Given the description of an element on the screen output the (x, y) to click on. 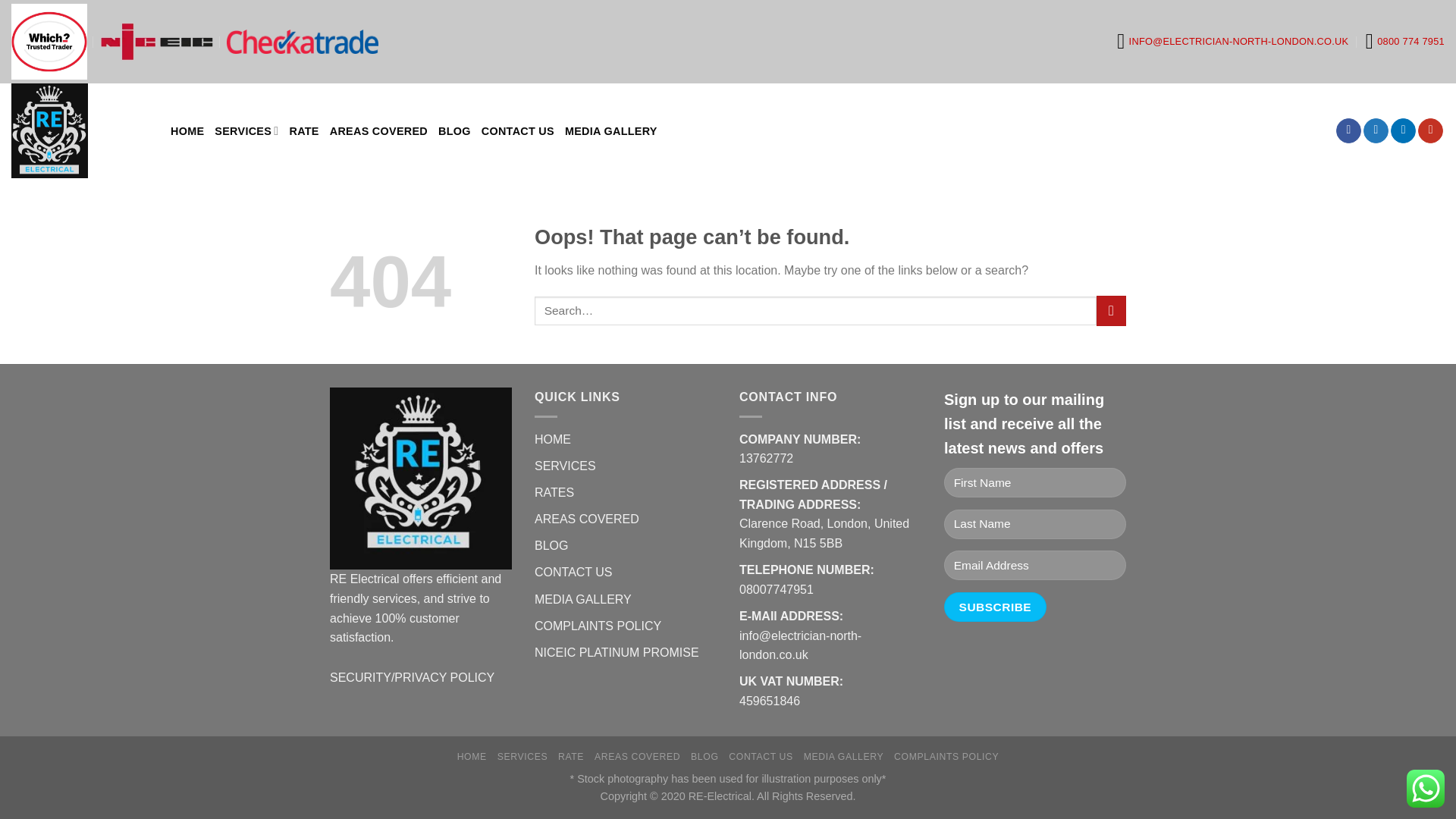
Follow on Facebook (1348, 130)
0800 774 7951 (1404, 41)
CONTACT US (517, 130)
BLOG (454, 130)
NICEIC PLATINUM PROMISE (616, 652)
RATES (553, 492)
HOME (471, 756)
HOME (552, 439)
RE-Electrical - Electrician London (79, 130)
SERVICES (564, 465)
SERVICES (522, 756)
AREAS COVERED (379, 130)
AREAS COVERED (586, 518)
RATE (303, 130)
Email (1232, 41)
